Given the description of an element on the screen output the (x, y) to click on. 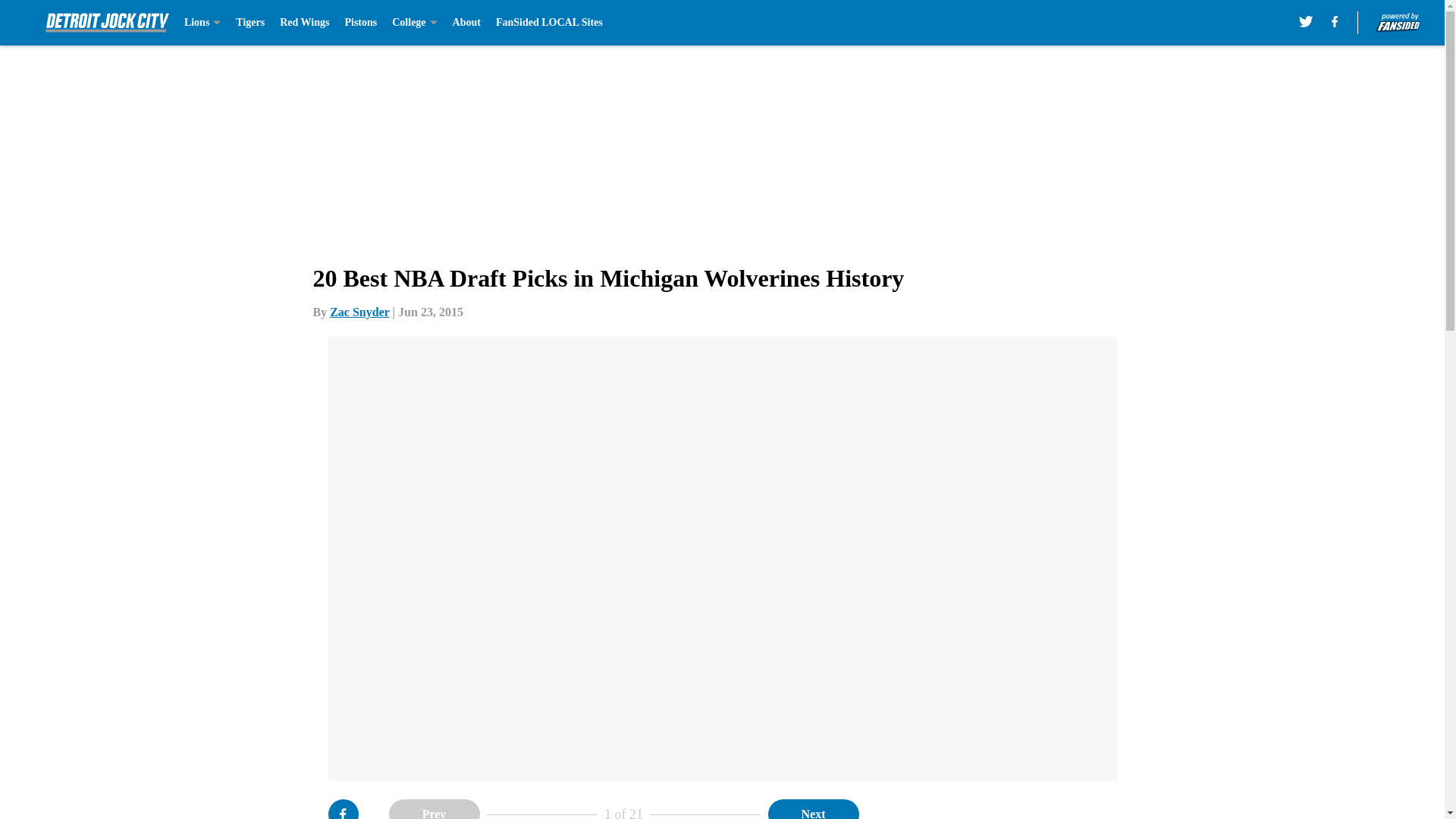
Prev (433, 809)
FanSided LOCAL Sites (549, 22)
Next (813, 809)
Zac Snyder (359, 311)
Tigers (249, 22)
About (466, 22)
Red Wings (304, 22)
Pistons (360, 22)
